Given the description of an element on the screen output the (x, y) to click on. 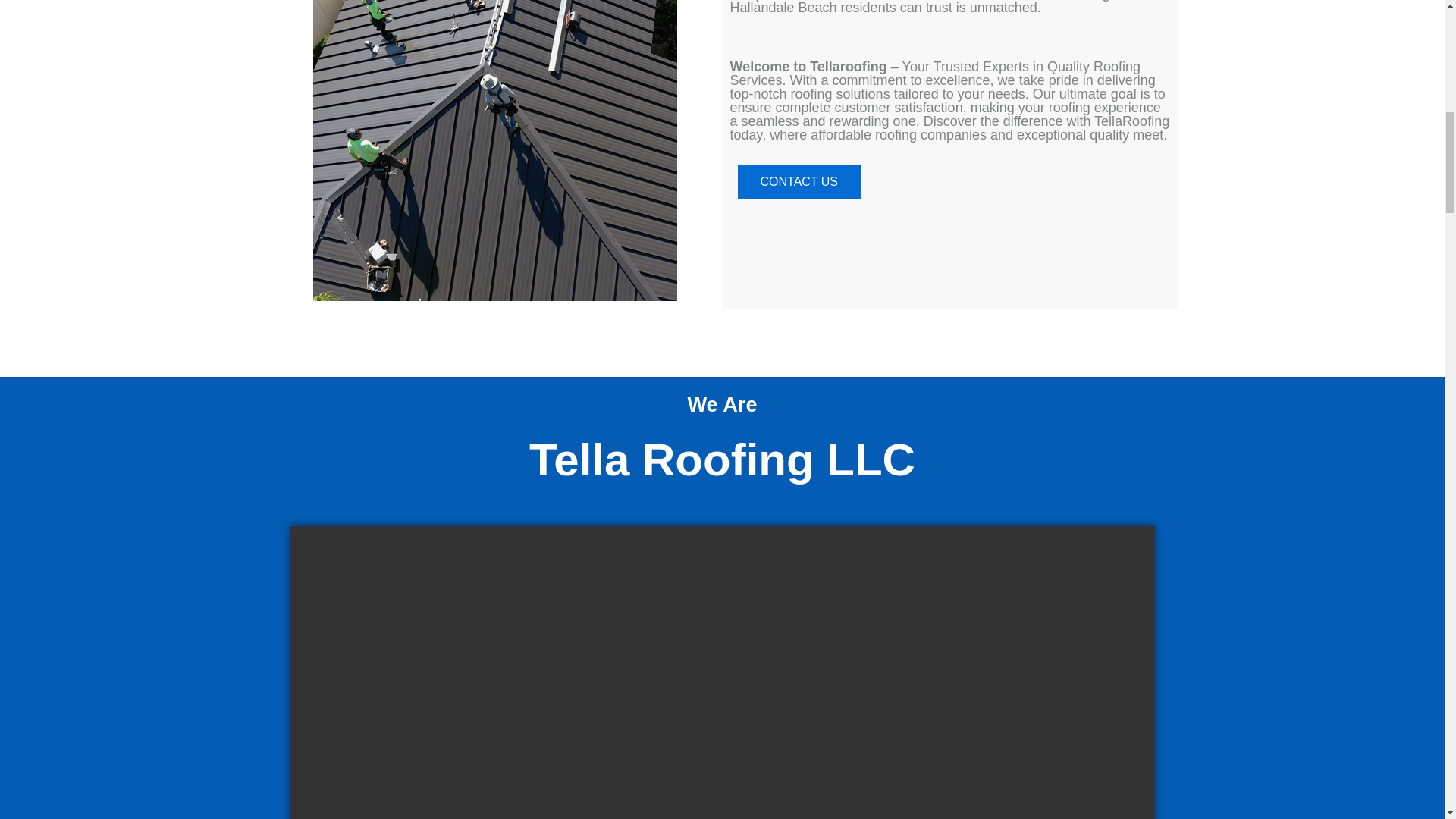
CONTACT US (798, 181)
